Given the description of an element on the screen output the (x, y) to click on. 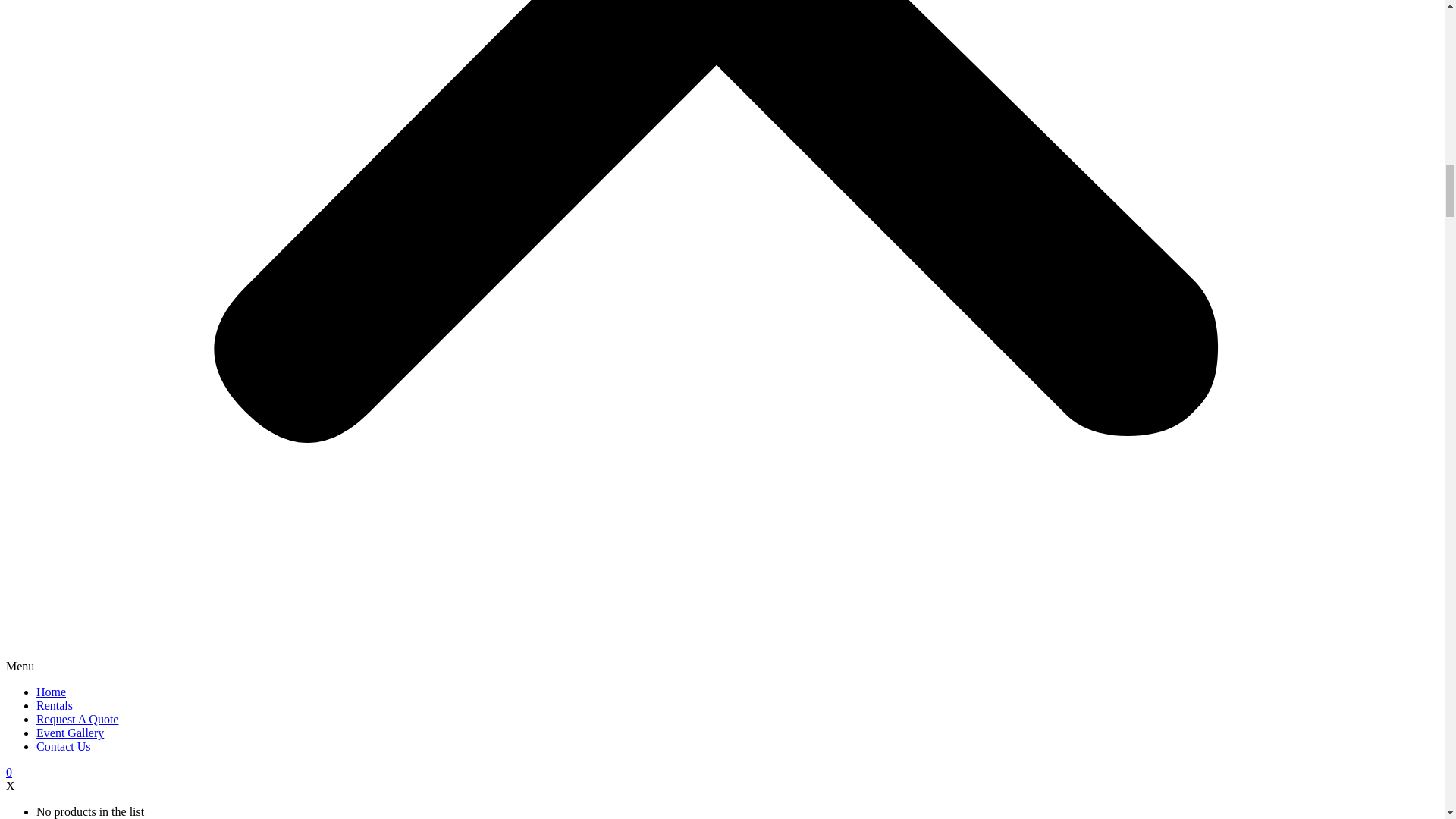
Request A Quote (76, 718)
Event Gallery (69, 732)
Contact Us (63, 746)
Home (50, 691)
Rentals (54, 705)
